Given the description of an element on the screen output the (x, y) to click on. 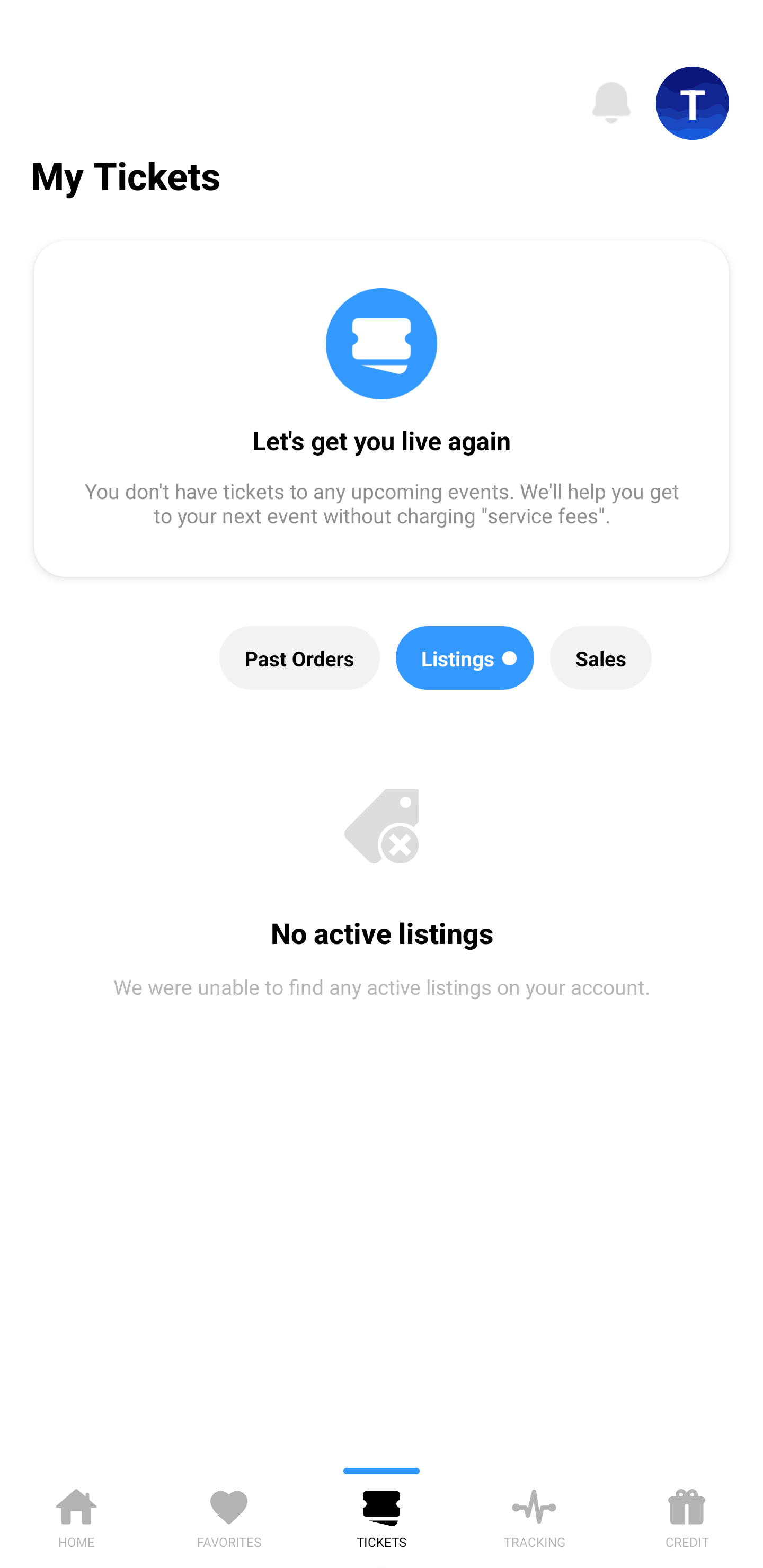
T (692, 103)
Past Orders (299, 657)
Listings (464, 657)
Sales (600, 657)
HOME (76, 1515)
FAVORITES (228, 1515)
TICKETS (381, 1515)
TRACKING (533, 1515)
CREDIT (686, 1515)
